Given the description of an element on the screen output the (x, y) to click on. 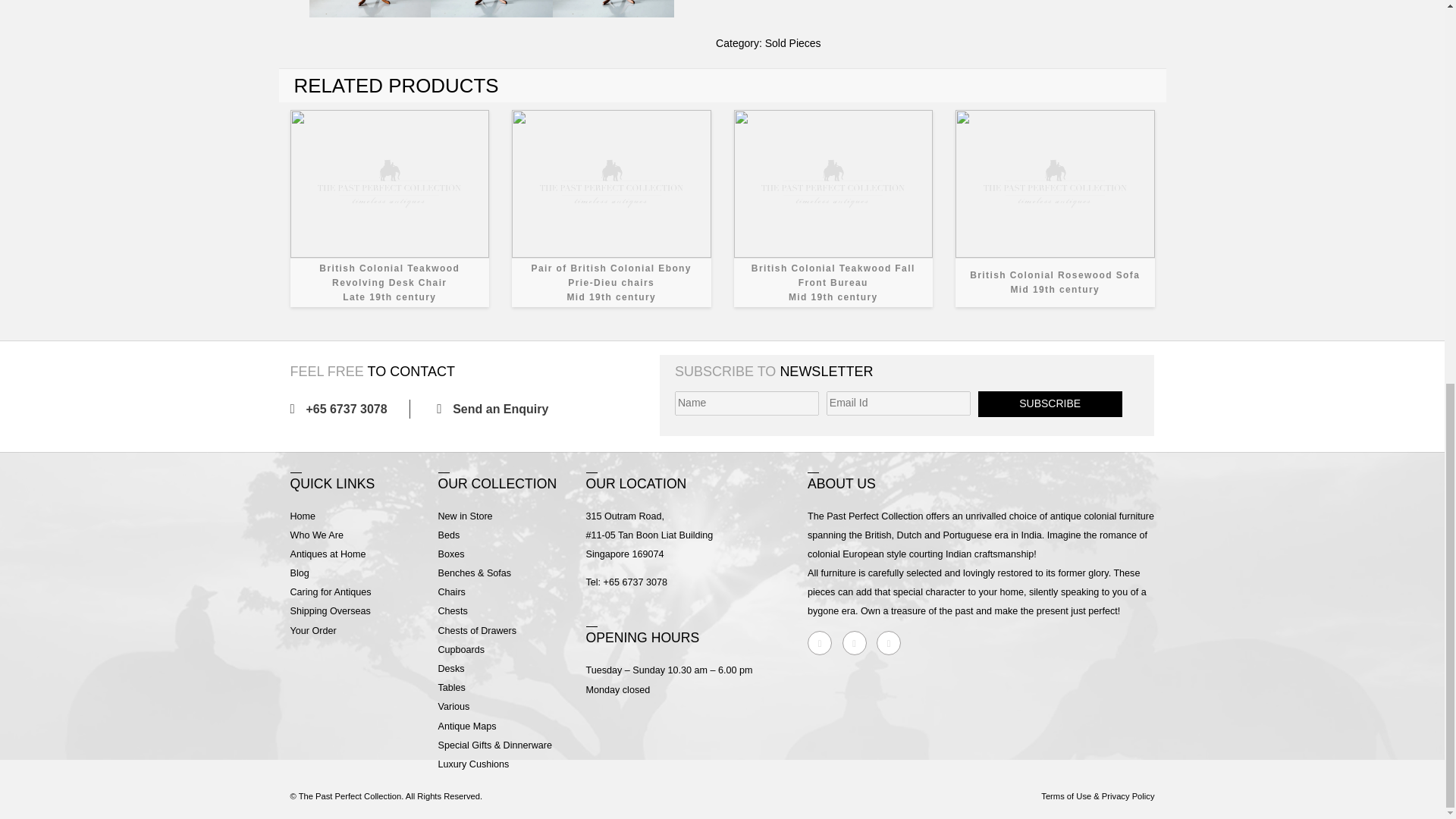
Send an Enquiry (833, 208)
Sold Pieces (1054, 208)
SUBSCRIBE (497, 408)
